Given the description of an element on the screen output the (x, y) to click on. 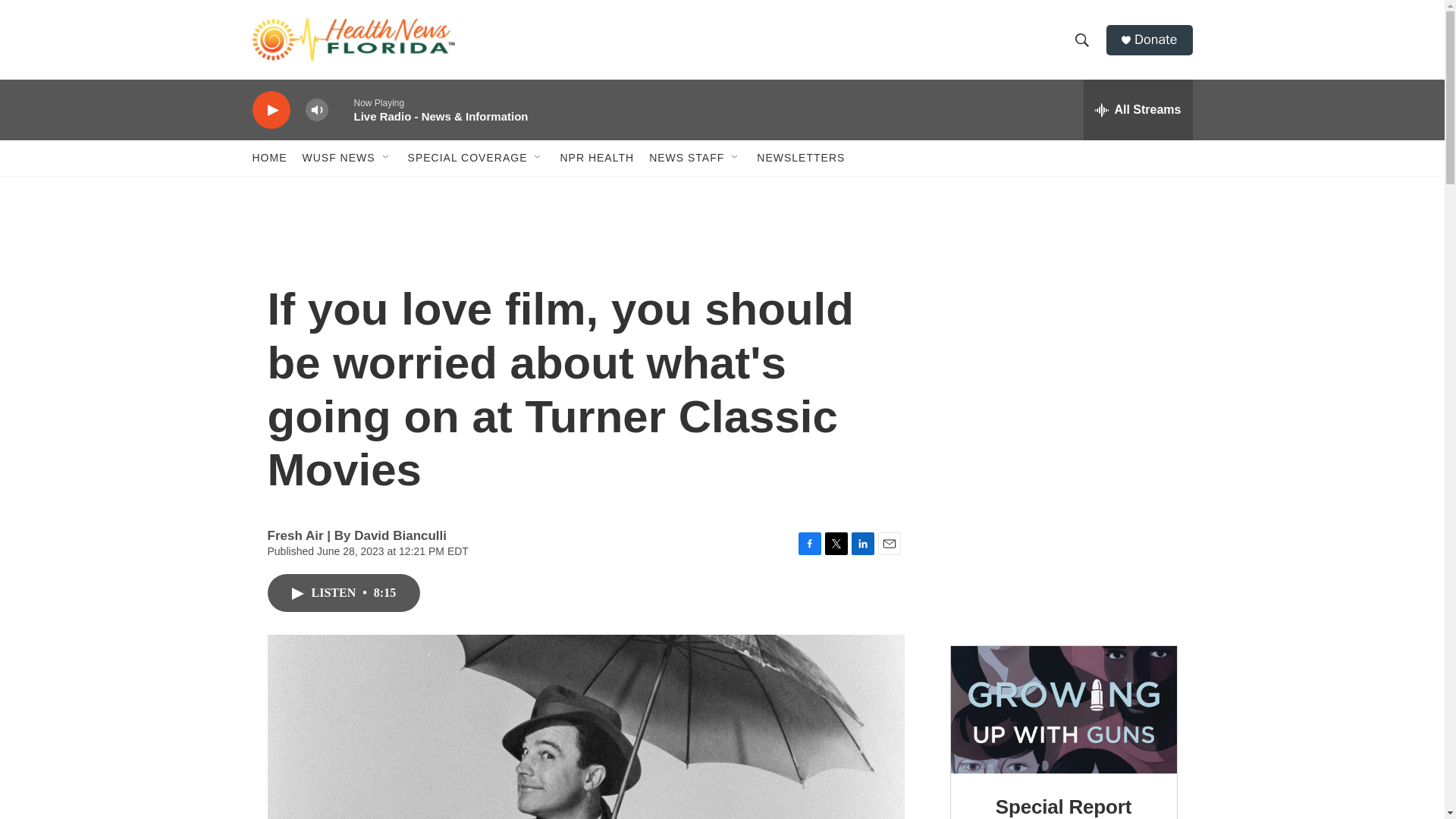
3rd party ad content (1063, 536)
3rd party ad content (1062, 331)
